Given the description of an element on the screen output the (x, y) to click on. 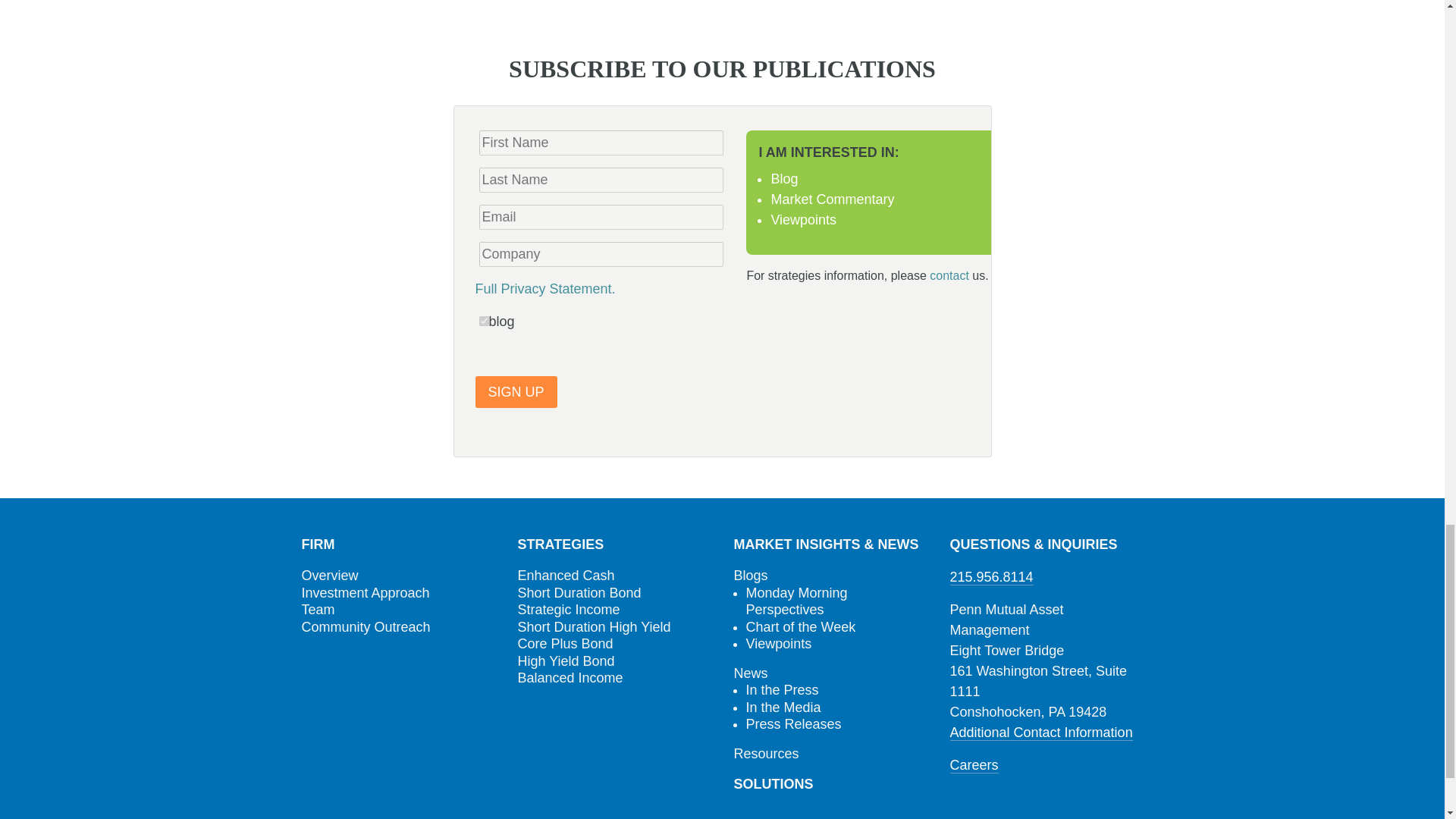
First Name (601, 142)
blog (484, 320)
Last Name (601, 179)
Email (601, 217)
Company (601, 253)
blog (484, 320)
Sign Up (515, 391)
